Given the description of an element on the screen output the (x, y) to click on. 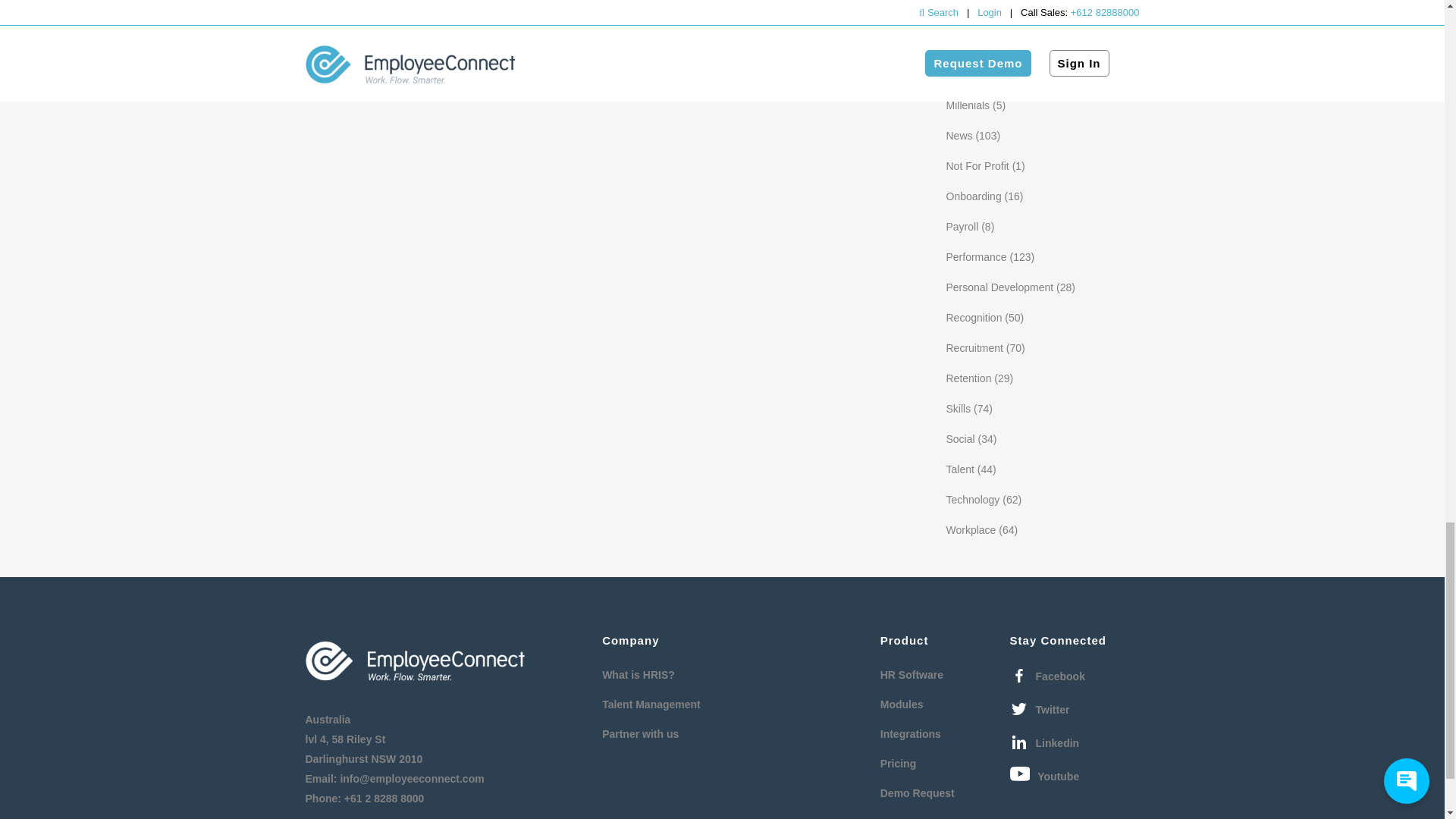
Twitter (1040, 709)
LinkedIn (1045, 742)
Facebook (1047, 676)
YouTube (1045, 776)
